Given the description of an element on the screen output the (x, y) to click on. 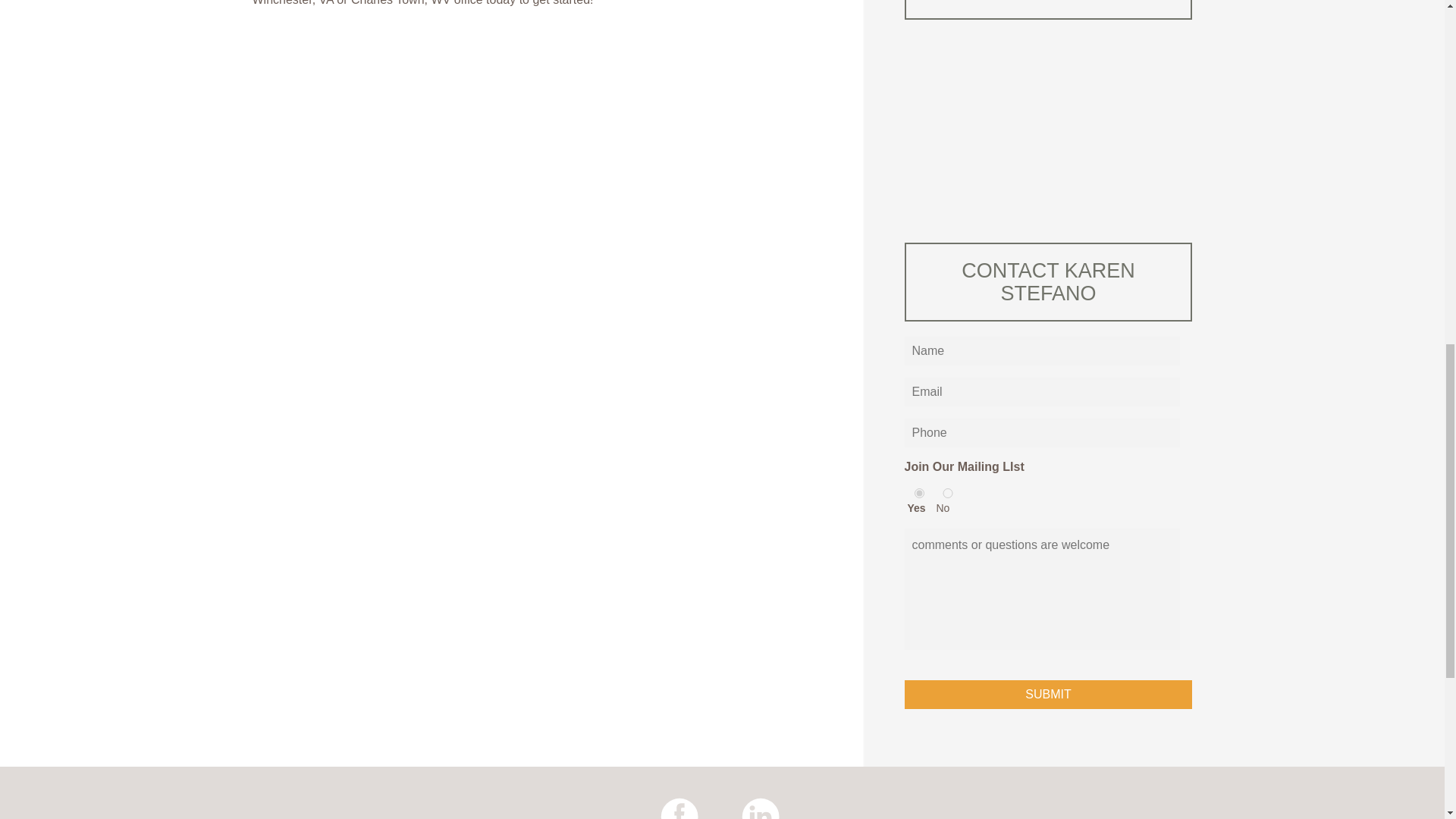
Submit (1048, 694)
No (947, 492)
Yes (919, 492)
